Given the description of an element on the screen output the (x, y) to click on. 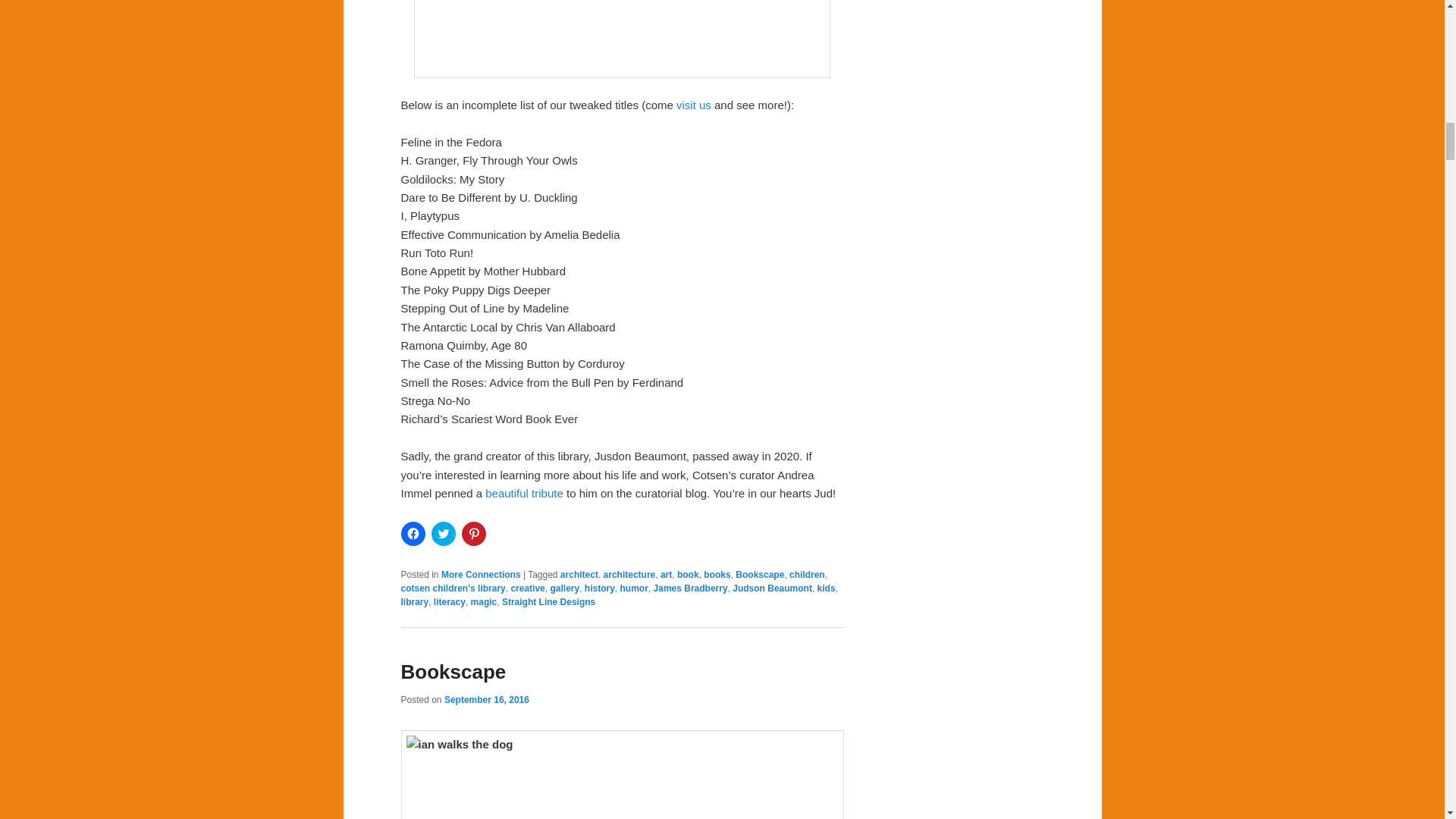
library (414, 602)
architect (579, 574)
creative (527, 588)
children (807, 574)
art (666, 574)
literacy (449, 602)
Click to share on Pinterest (472, 533)
Click to share on Facebook (412, 533)
cotsen children's library (452, 588)
Judson Beaumont (772, 588)
book (687, 574)
gallery (564, 588)
visit us (694, 104)
10:00 am (486, 699)
humor (633, 588)
